Given the description of an element on the screen output the (x, y) to click on. 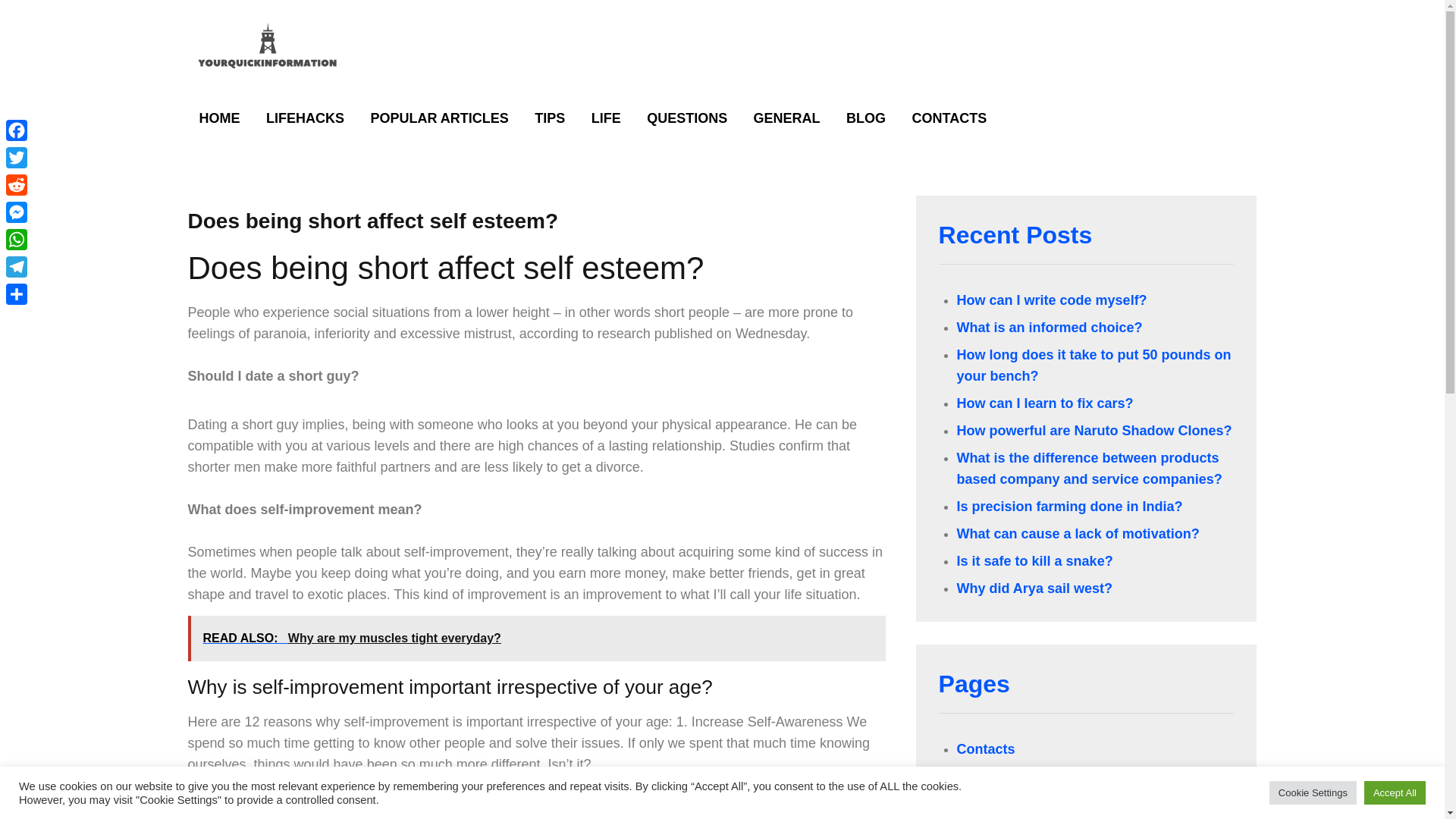
Why did Arya sail west? (1034, 588)
LIFEHACKS (304, 118)
READ ALSO:   Why are my muscles tight everyday? (536, 637)
WhatsApp (16, 239)
Telegram (16, 266)
How long does it take to put 50 pounds on your bench? (1093, 365)
Is it safe to kill a snake? (1034, 560)
Terms and Conditions (1028, 776)
Contacts (985, 749)
